Given the description of an element on the screen output the (x, y) to click on. 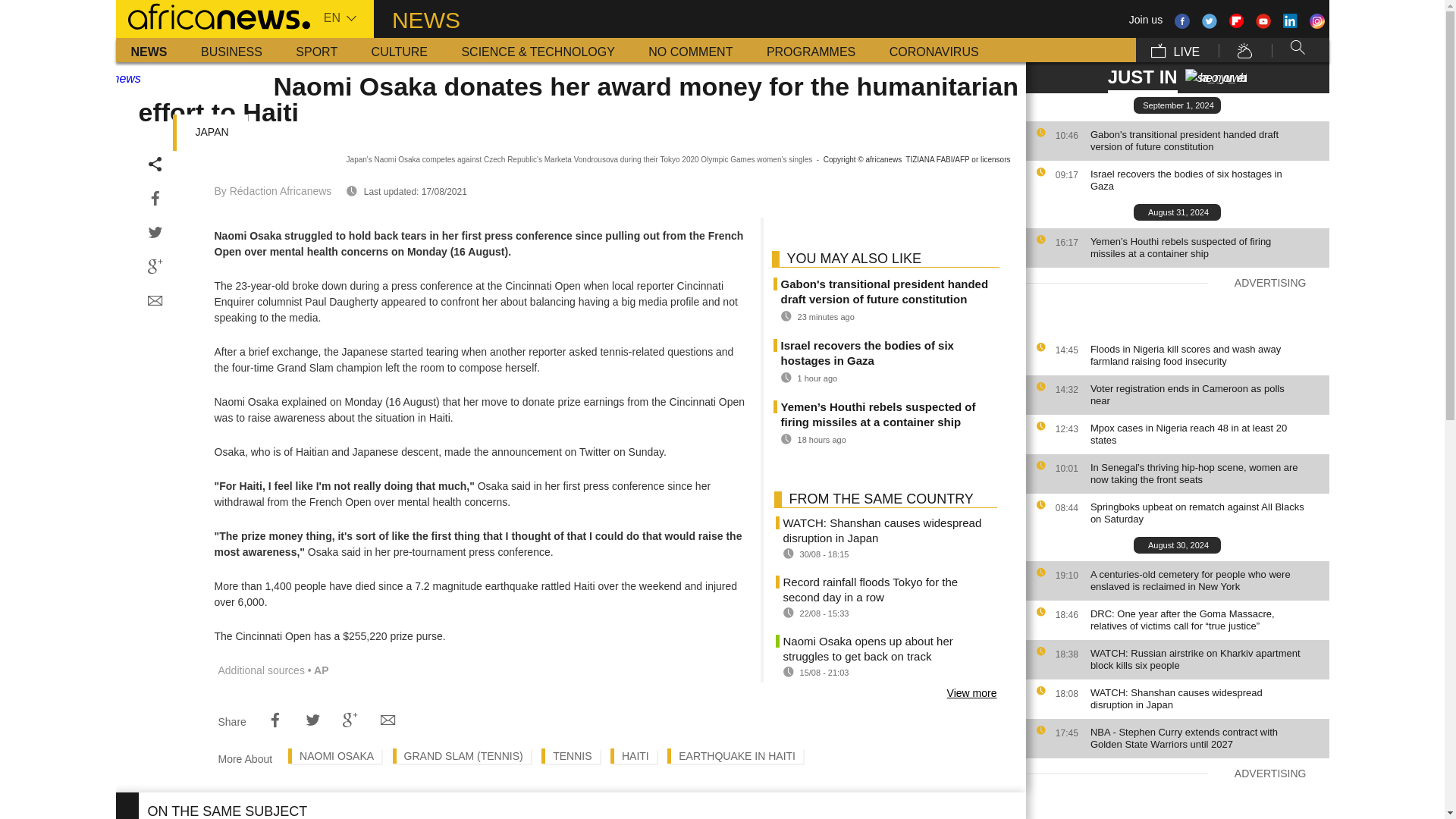
Coronavirus (934, 49)
Voter registration ends in Cameroon as polls near (1206, 395)
LIVE (1174, 49)
Culture (399, 49)
NEWS (148, 49)
No Comment (690, 49)
CULTURE (399, 49)
Sport (316, 49)
Programmes (810, 49)
